Given the description of an element on the screen output the (x, y) to click on. 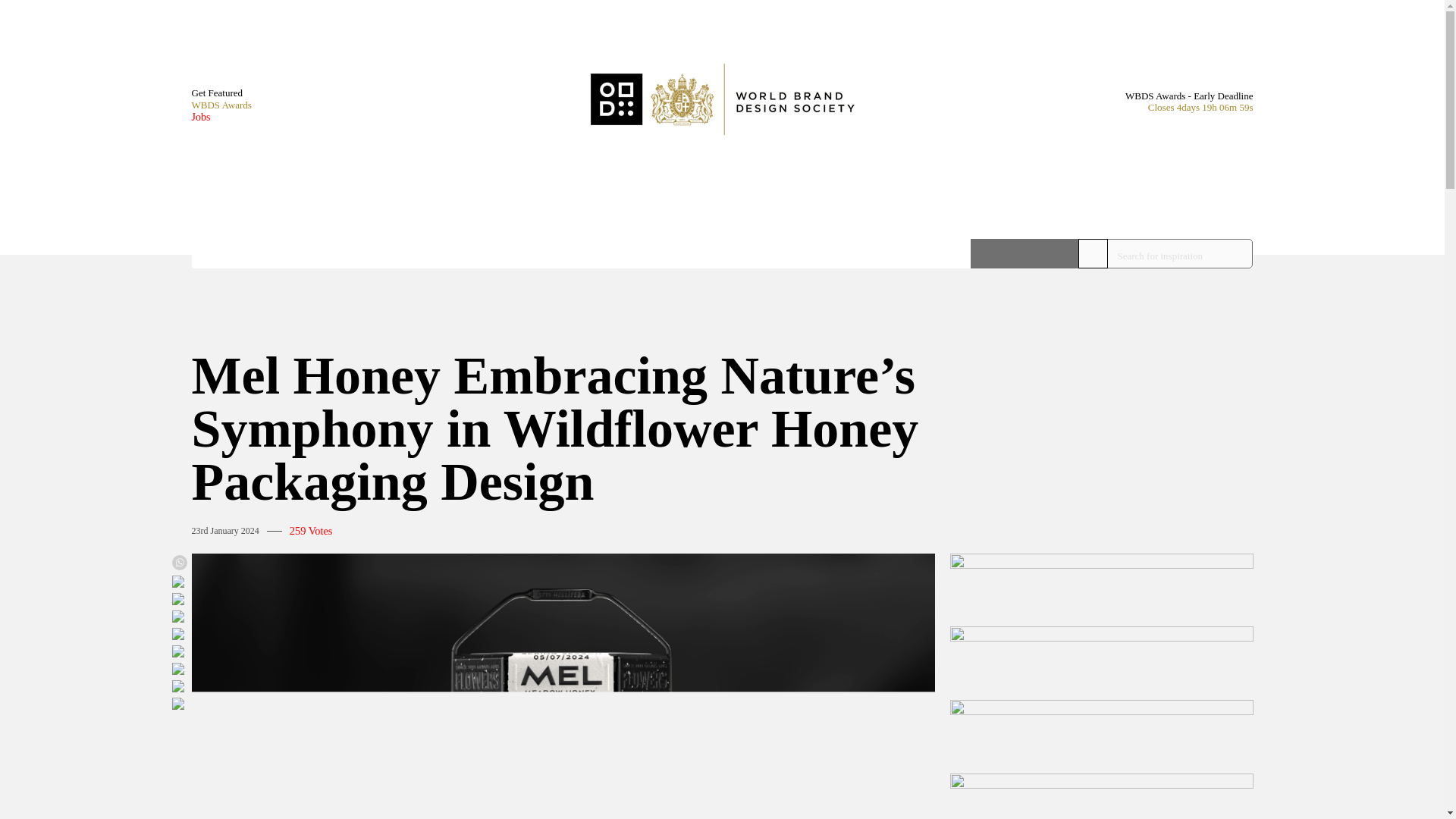
Search (1024, 253)
Search (1024, 253)
WBDS Awards (220, 104)
Get Featured (220, 92)
Jobs (220, 117)
